Given the description of an element on the screen output the (x, y) to click on. 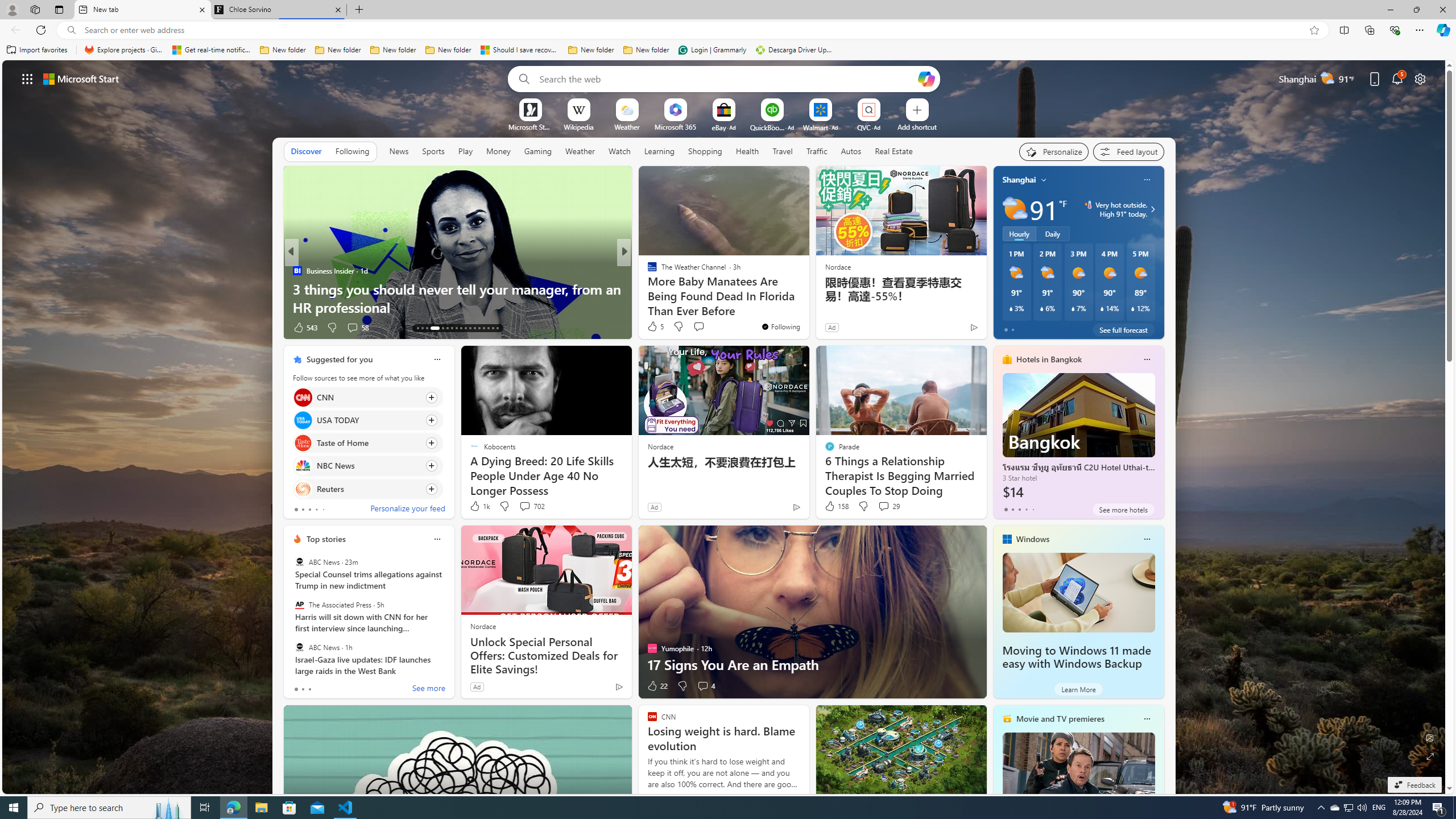
View comments 25 Comment (704, 327)
Reuters (302, 488)
AutomationID: tab-16 (431, 328)
Real Estate (893, 151)
12 YouTube Features You'll Kick Yourself For Not Using (807, 298)
Sports (432, 151)
